Given the description of an element on the screen output the (x, y) to click on. 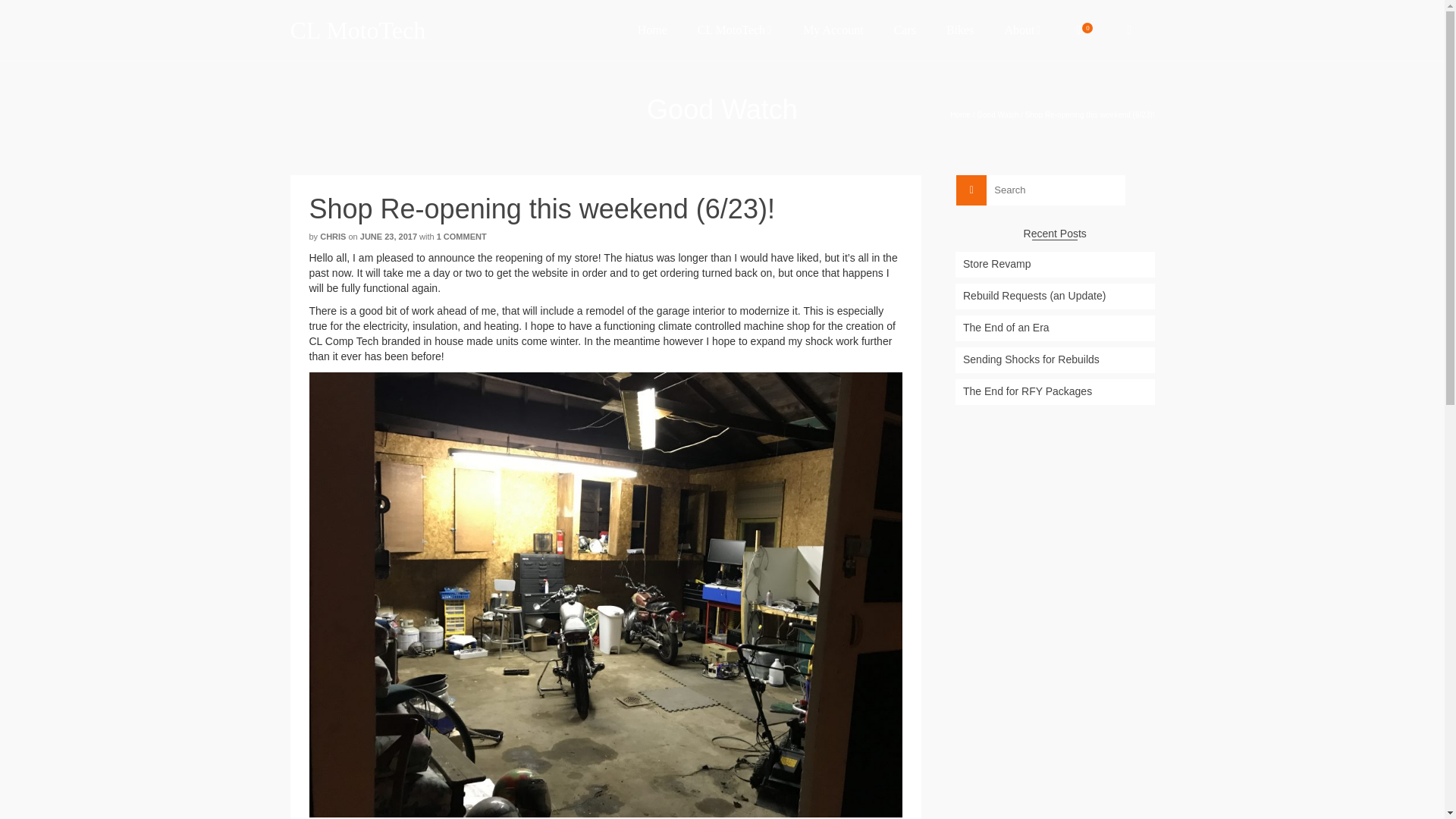
About (1022, 30)
My Account (833, 30)
CL MotoTech (734, 30)
Bikes (959, 30)
Home (652, 30)
CL MotoTech (425, 30)
